Given the description of an element on the screen output the (x, y) to click on. 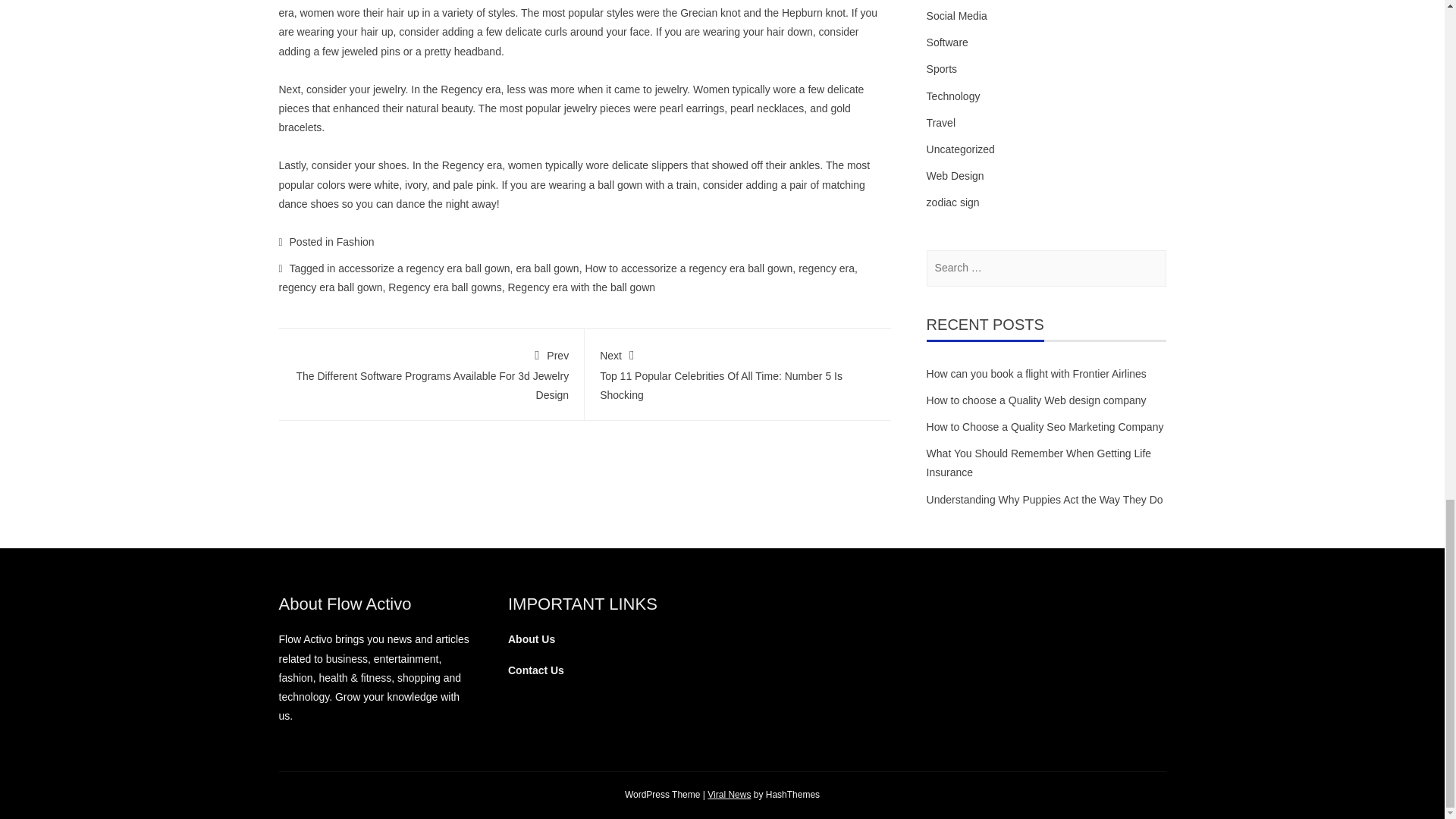
accessorize a regency era ball gown (423, 268)
era ball gown (546, 268)
Download Viral News (729, 794)
regency era (825, 268)
Regency era ball gowns (444, 287)
How to accessorize a regency era ball gown (688, 268)
regency era ball gown (330, 287)
Fashion (355, 241)
Regency era with the ball gown (580, 287)
